Given the description of an element on the screen output the (x, y) to click on. 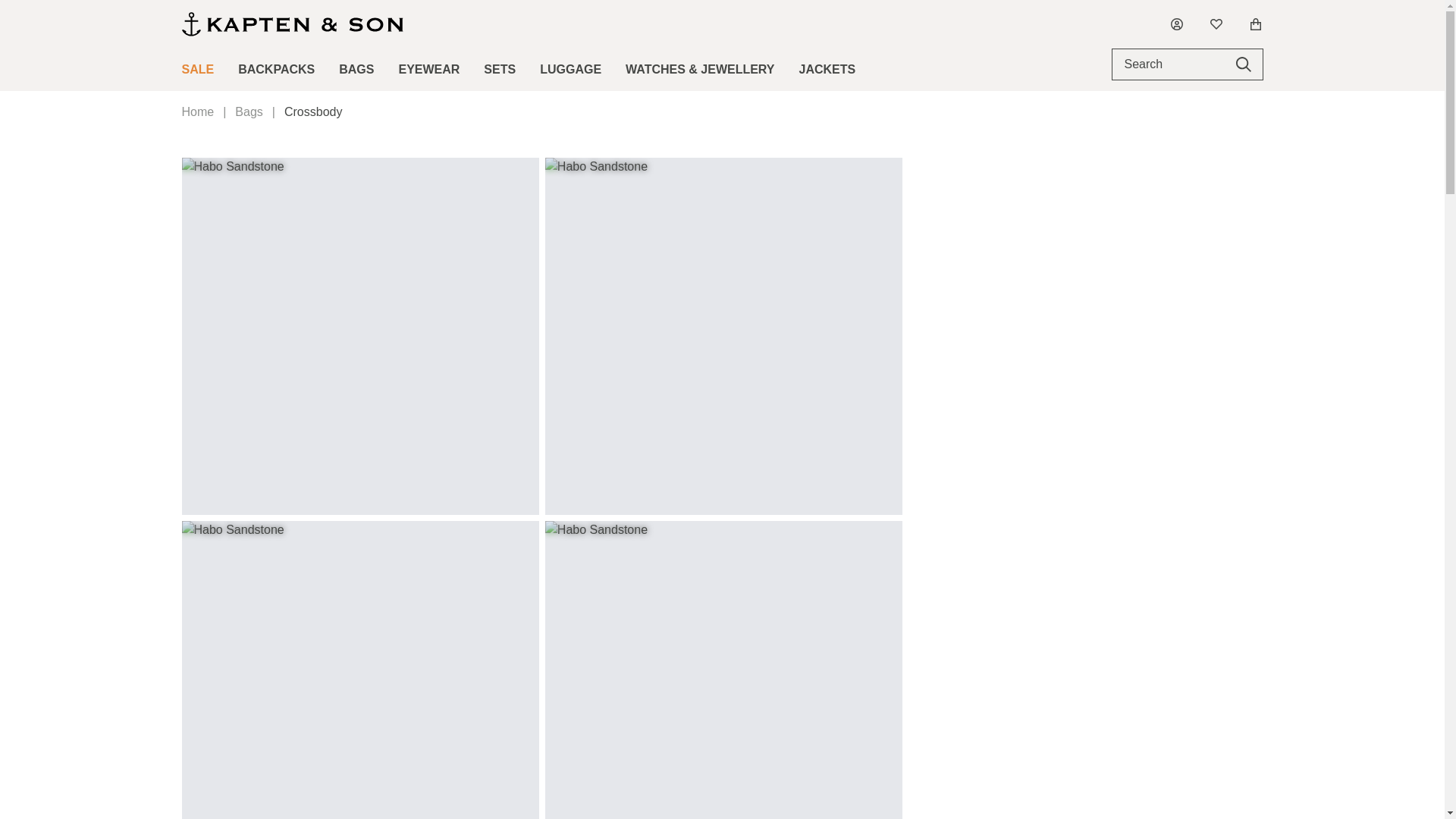
EYEWEAR (428, 69)
Crossbody (312, 112)
SETS (499, 69)
Basket (1255, 24)
BACKPACKS (276, 69)
Homepage (292, 24)
LUGGAGE (570, 69)
Wish list (1216, 24)
JACKETS (827, 69)
My Account (1177, 24)
